Given the description of an element on the screen output the (x, y) to click on. 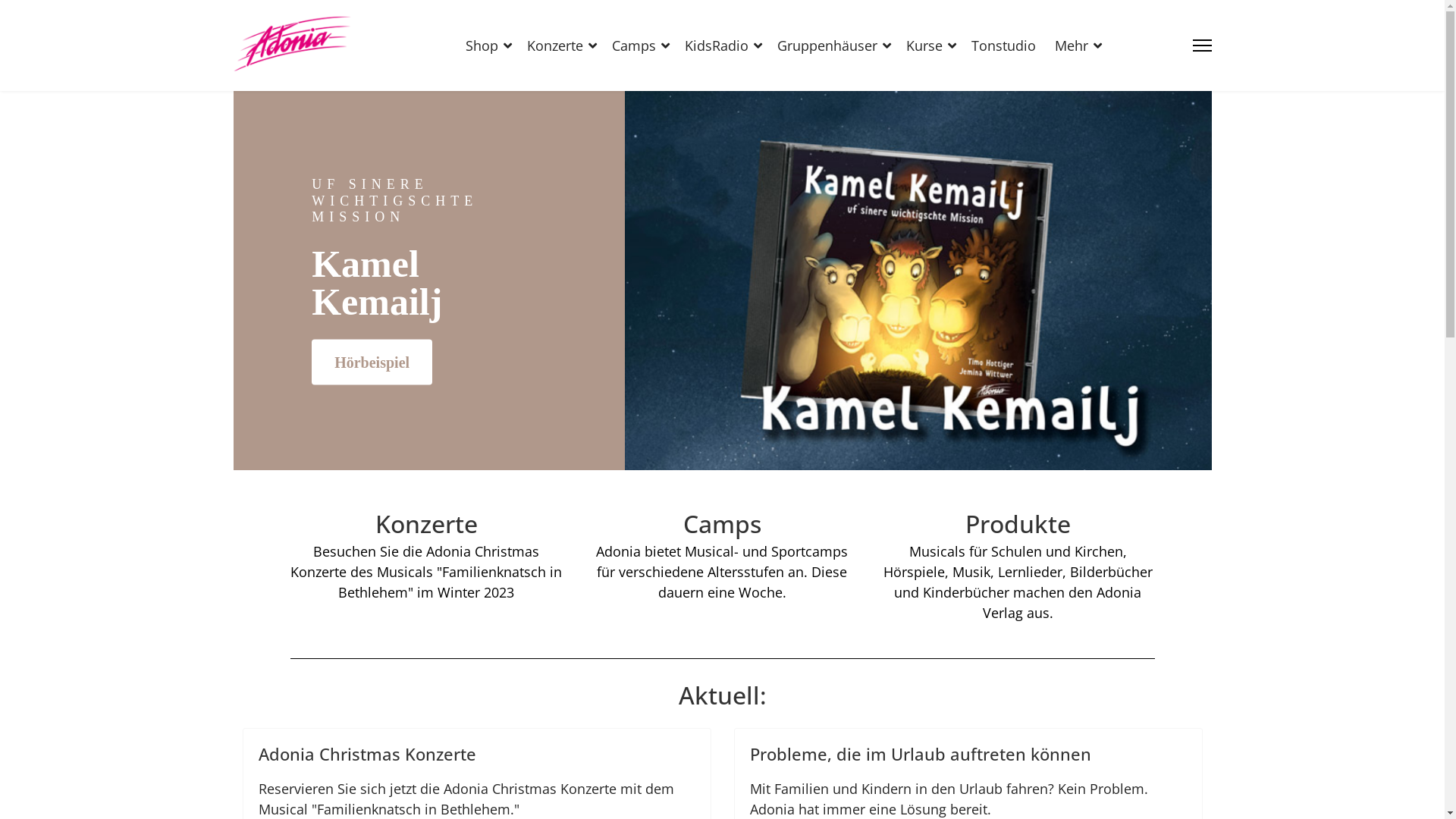
Konzerte Element type: text (425, 523)
Produkte Element type: text (1017, 523)
Konzerte Element type: text (561, 45)
Mehr Element type: text (1072, 45)
Kurse Element type: text (930, 45)
KidsRadio Element type: text (723, 45)
Camps Element type: text (721, 523)
Abonnieren Element type: text (372, 361)
Aktuell: Element type: text (721, 694)
Camps Element type: text (640, 45)
Shop Element type: text (488, 45)
Menu Element type: hover (1201, 45)
Tonstudio Element type: text (1003, 45)
